Given the description of an element on the screen output the (x, y) to click on. 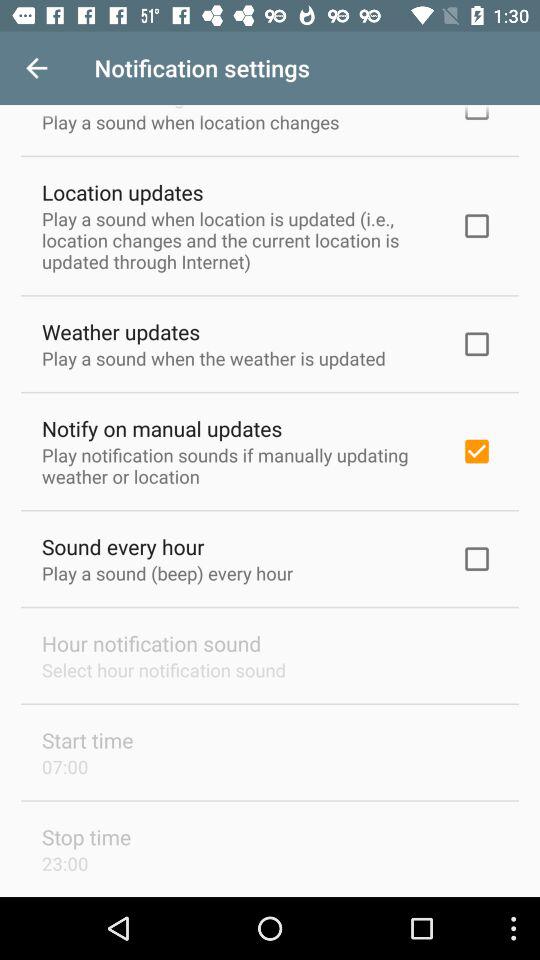
jump until location updates item (122, 192)
